Given the description of an element on the screen output the (x, y) to click on. 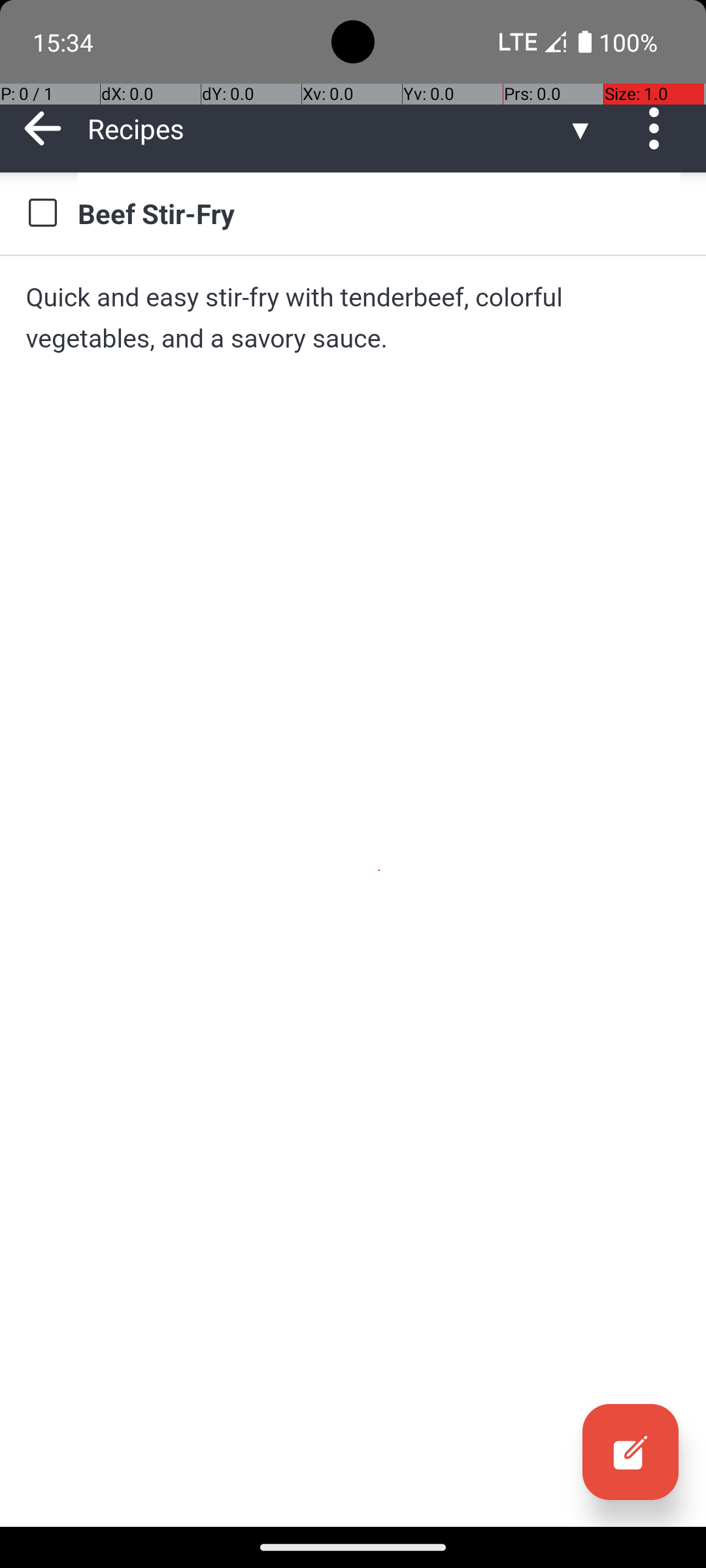
Beef Stir-Fry Element type: android.widget.EditText (378, 213)
Quick and easy stir-fry with tenderbeef, colorful vegetables, and a savory sauce. Element type: android.widget.TextView (352, 317)
